Given the description of an element on the screen output the (x, y) to click on. 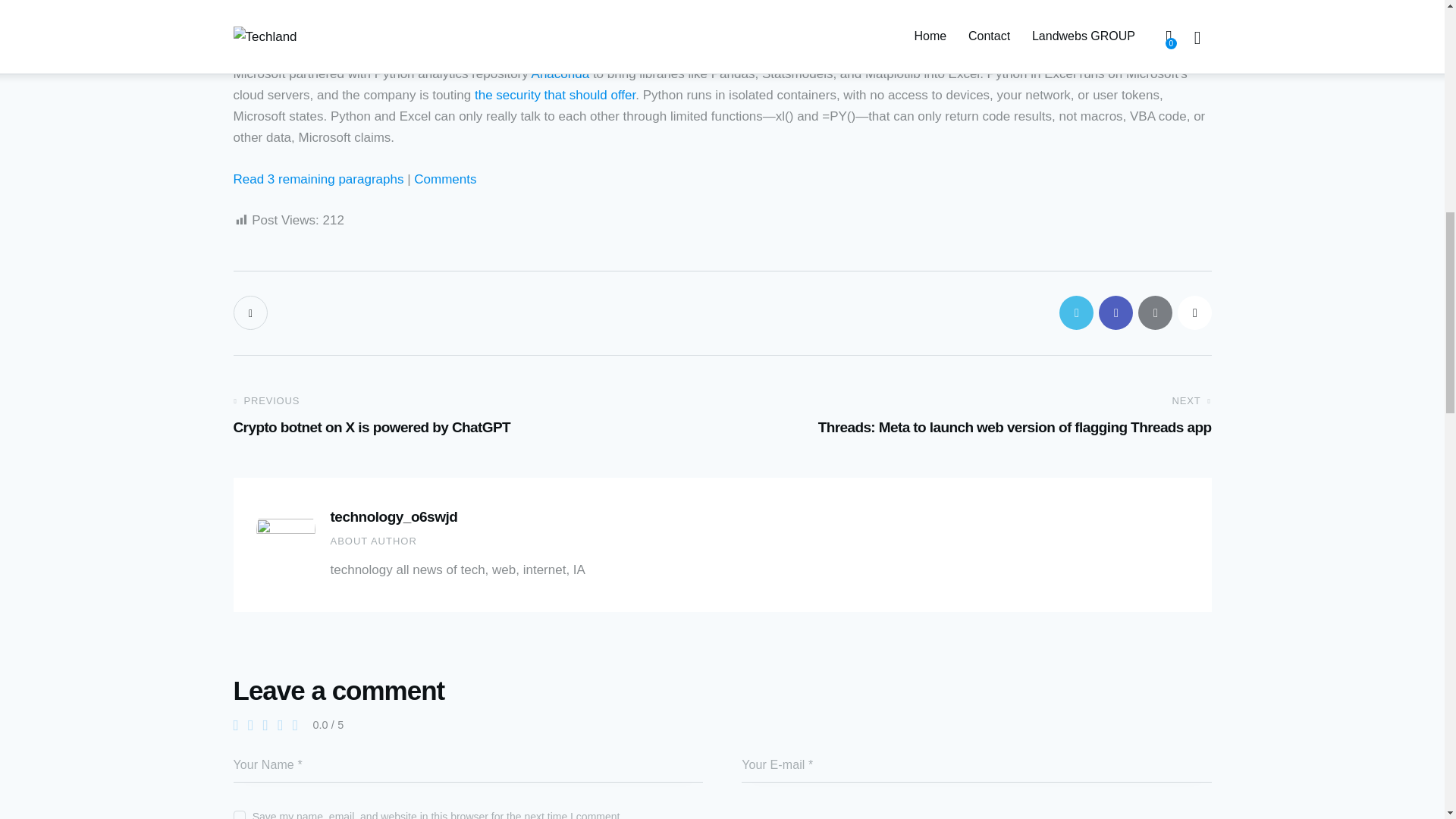
Comments (444, 178)
Read 3 remaining paragraphs (471, 415)
yes (318, 178)
the security that should offer (237, 813)
Copy URL to clipboard (554, 94)
Anaconda (1193, 312)
Like (560, 73)
